Given the description of an element on the screen output the (x, y) to click on. 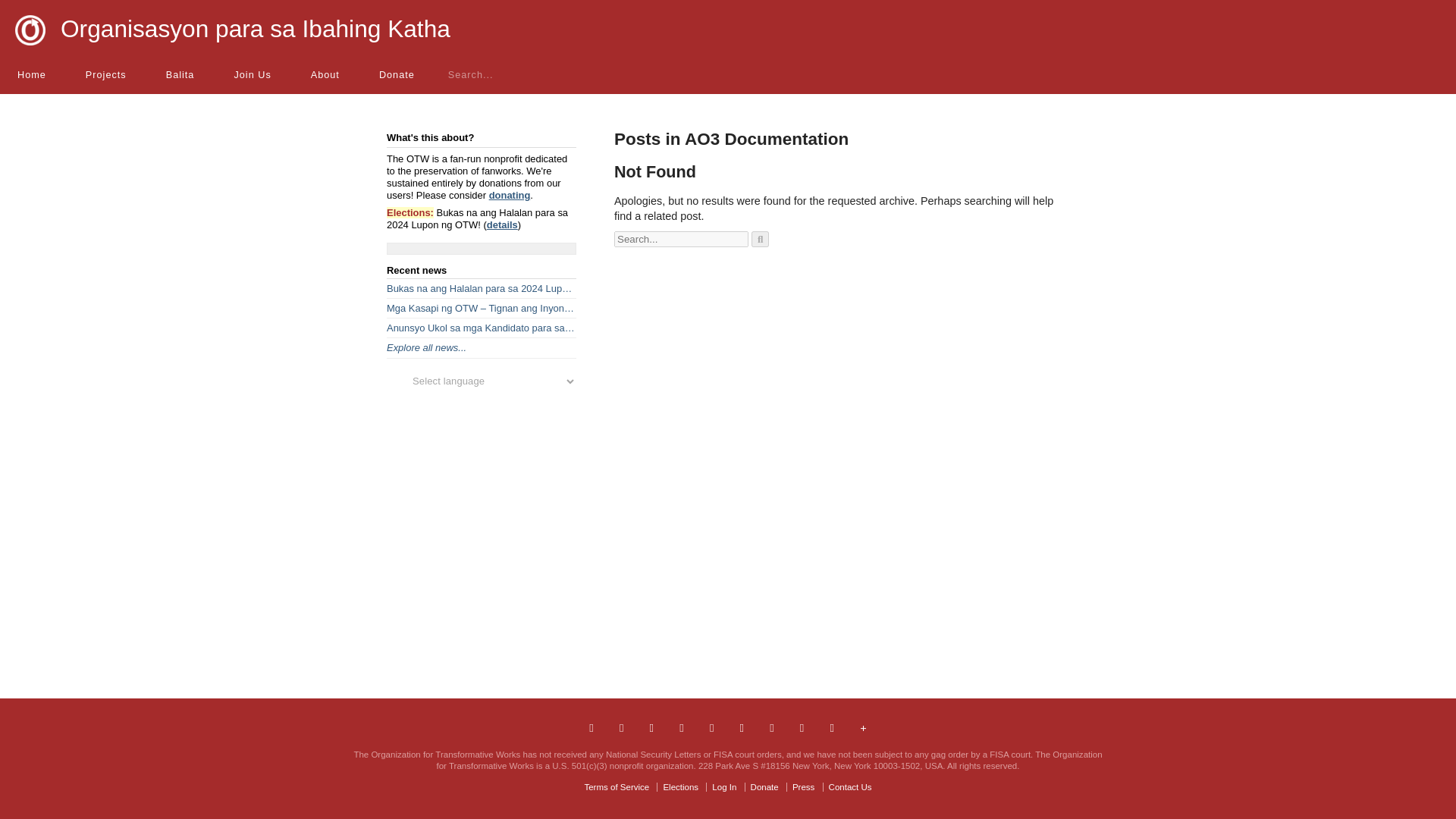
Organisasyon para sa Ibahing Katha (255, 28)
Youtube (770, 727)
About (323, 74)
donating (510, 194)
Github (801, 727)
Join Us (250, 74)
Balita (179, 74)
Tumblr (680, 727)
Search for: (681, 238)
Search (759, 238)
